Given the description of an element on the screen output the (x, y) to click on. 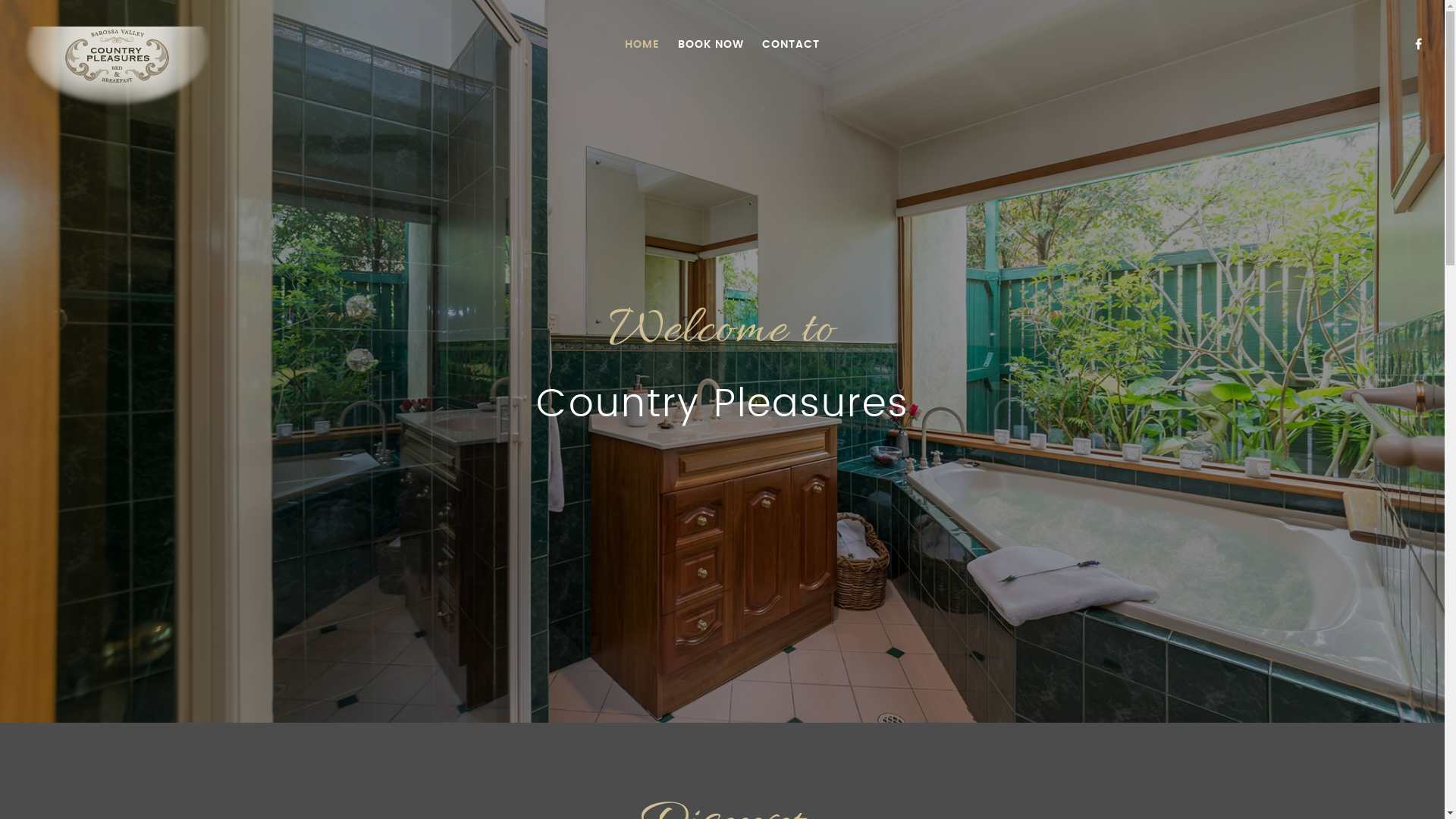
HOME Element type: text (641, 44)
BOOK NOW Element type: text (710, 44)
CONTACT Element type: text (790, 44)
